Given the description of an element on the screen output the (x, y) to click on. 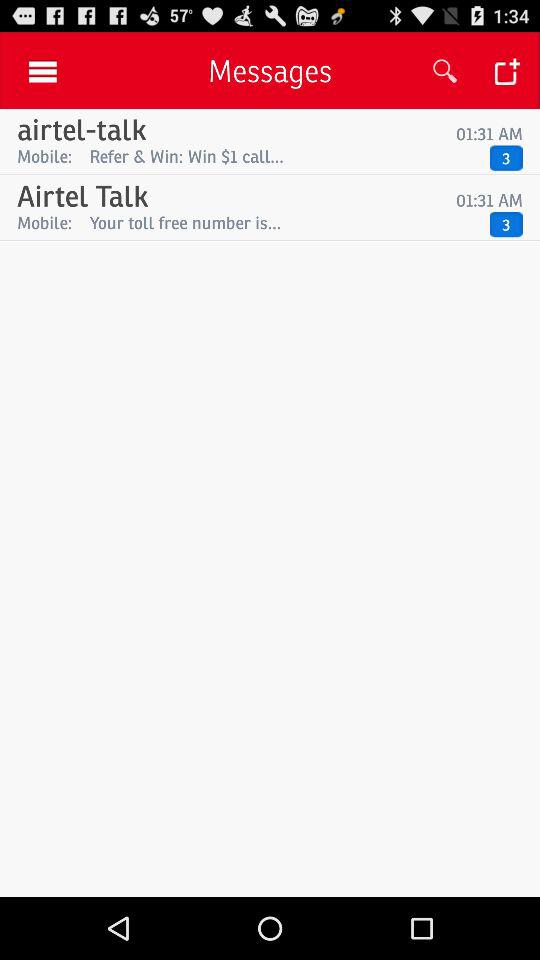
press the app next to messages app (444, 70)
